Given the description of an element on the screen output the (x, y) to click on. 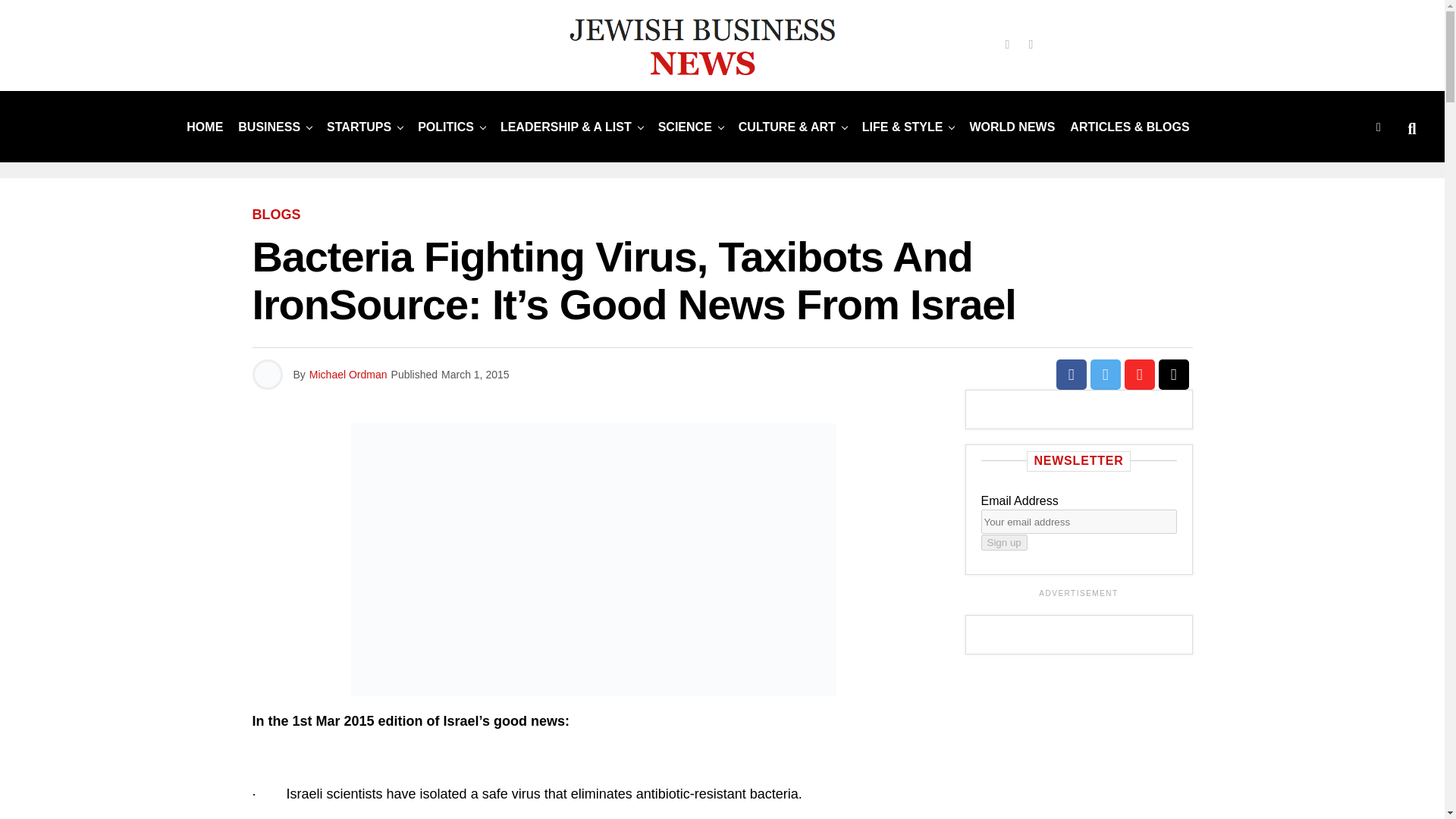
Share on Flipboard (1139, 374)
Share on Facebook (1070, 374)
New Research (684, 126)
Tweet This Post (1105, 374)
Posts by Michael Ordman (347, 374)
Sign up (1004, 542)
